Given the description of an element on the screen output the (x, y) to click on. 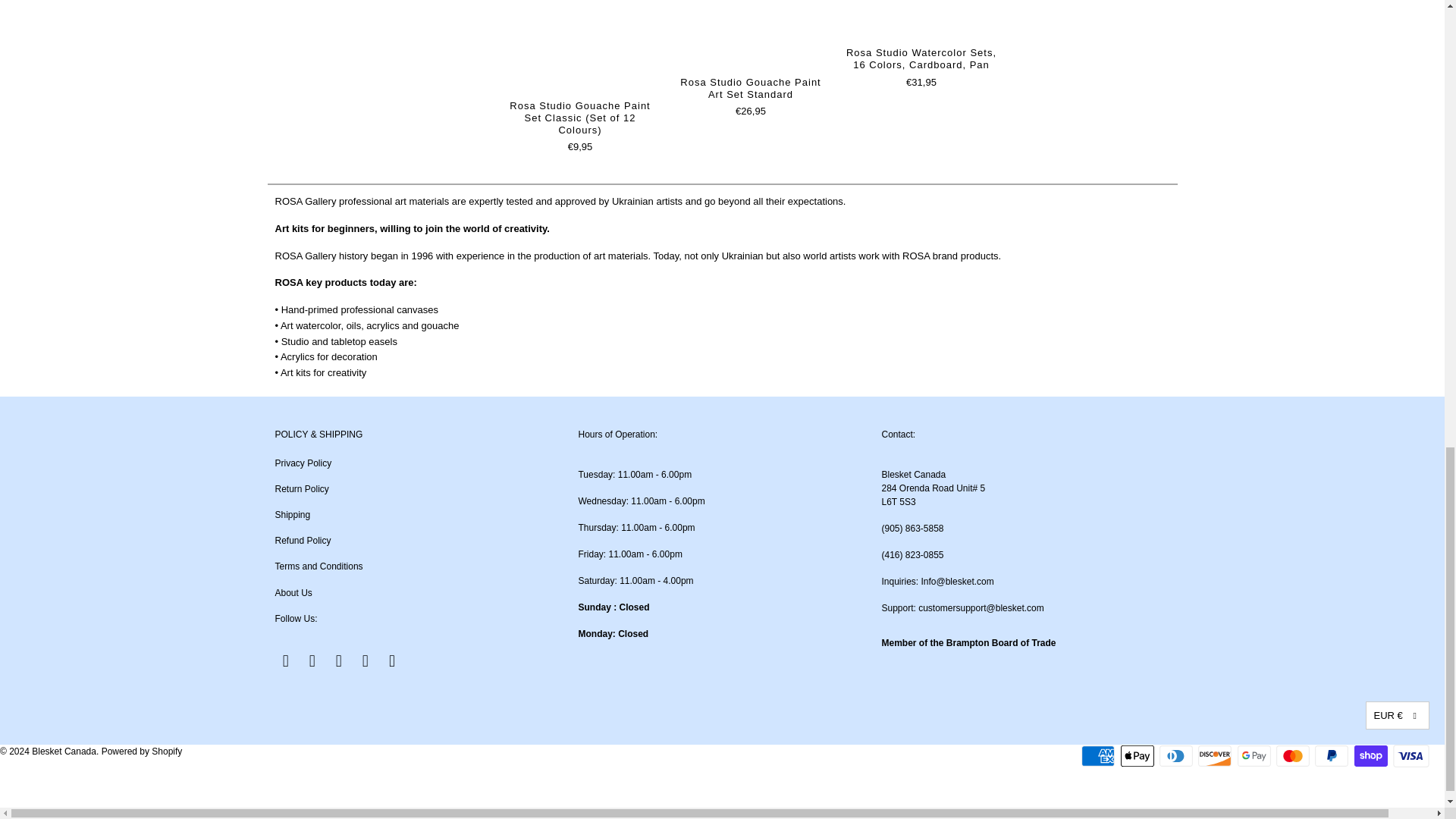
Shop Pay (1372, 755)
Discover (1216, 755)
Blesket Canada on Facebook (286, 660)
Diners Club (1176, 755)
PayPal (1332, 755)
Apple Pay (1139, 755)
Email Blesket Canada (392, 660)
Blesket Canada on Pinterest (339, 660)
Mastercard (1294, 755)
Visa (1411, 755)
American Express (1099, 755)
Blesket Canada on Instagram (366, 660)
Blesket Canada on YouTube (312, 660)
Google Pay (1255, 755)
